Given the description of an element on the screen output the (x, y) to click on. 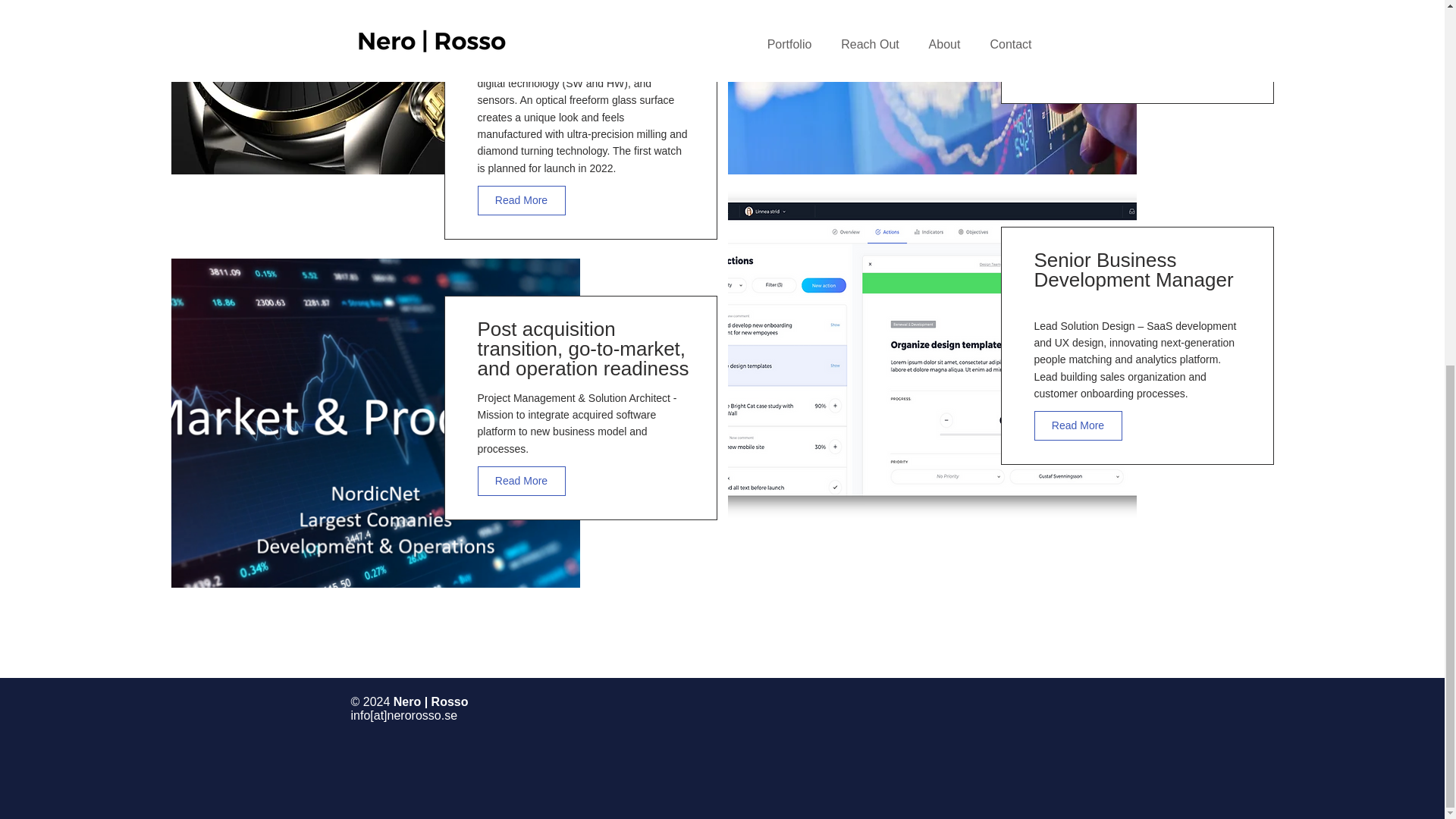
Stock Market Graph.jpg (932, 86)
Read More (521, 200)
Read More (1077, 64)
Read More (1077, 425)
Read More (521, 481)
12fd14af-6bdf-4da3-86f9-3bede020c5aa.JPG (375, 86)
